Given the description of an element on the screen output the (x, y) to click on. 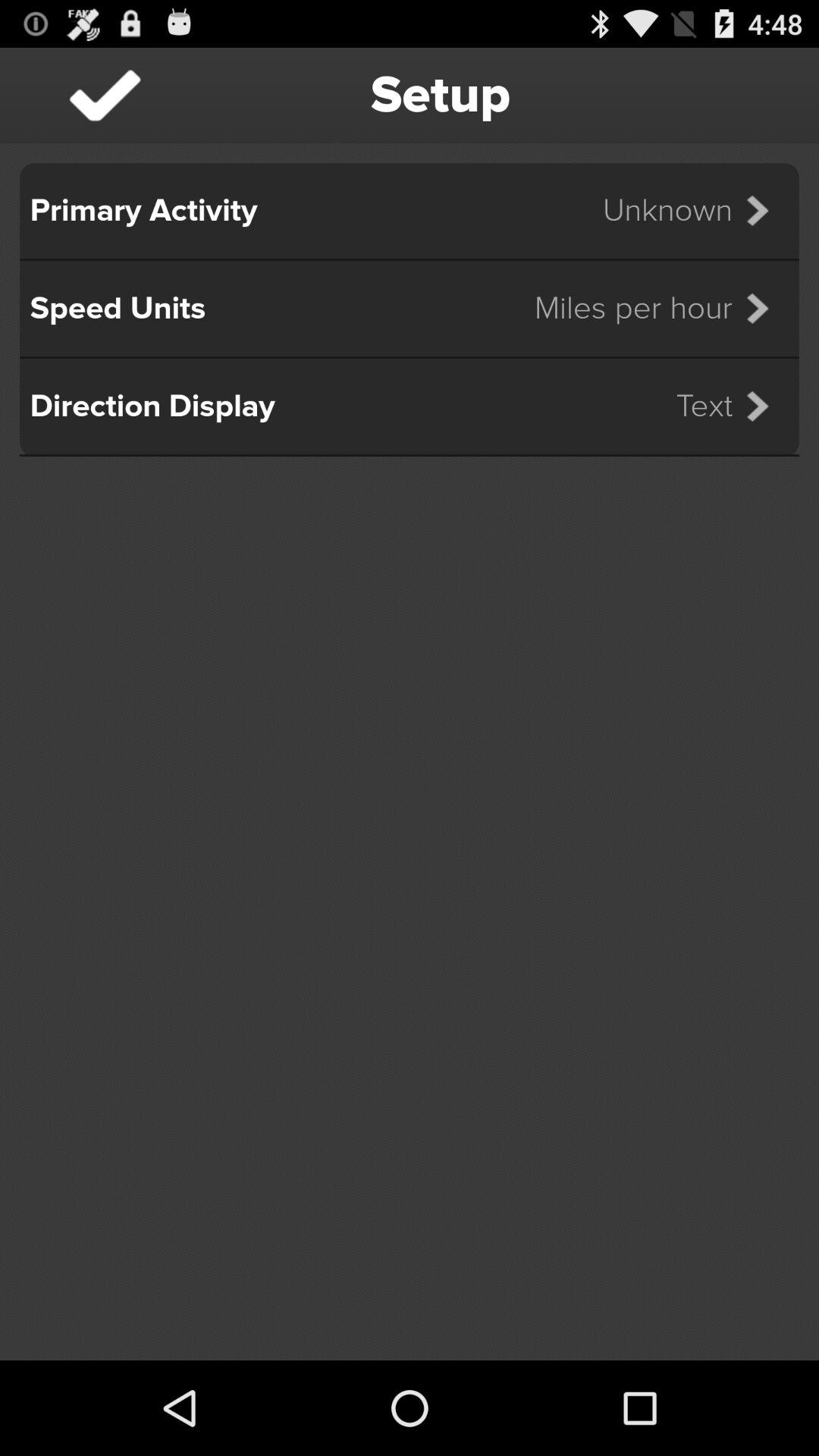
swipe until unknown icon (695, 210)
